Given the description of an element on the screen output the (x, y) to click on. 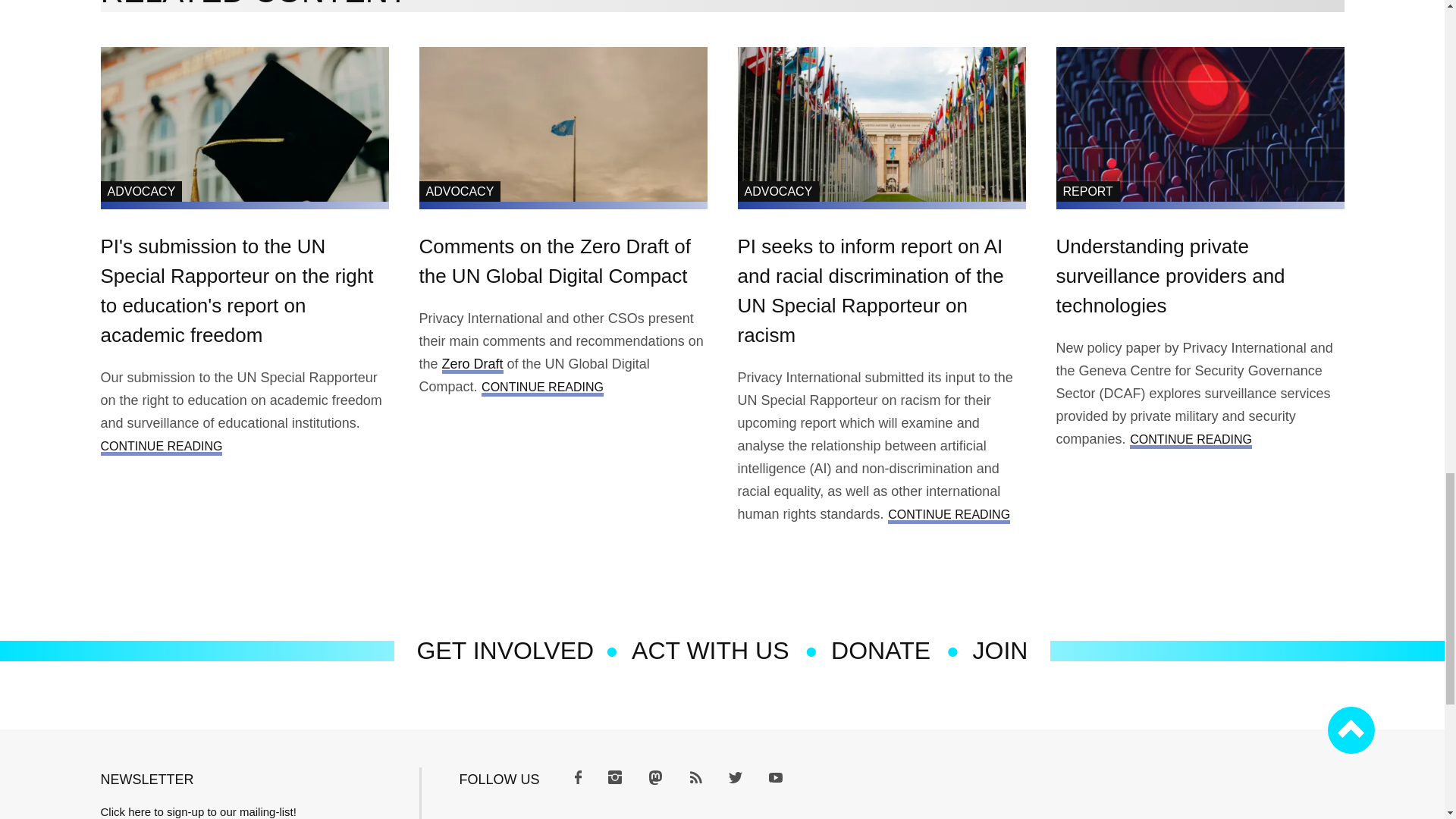
We need your support, donate now (880, 650)
Join (999, 650)
CONTINUE READING (161, 445)
Back to top (1350, 729)
Comments on the Zero Draft of the UN Global Digital Compact (554, 261)
Act with US (710, 650)
